Given the description of an element on the screen output the (x, y) to click on. 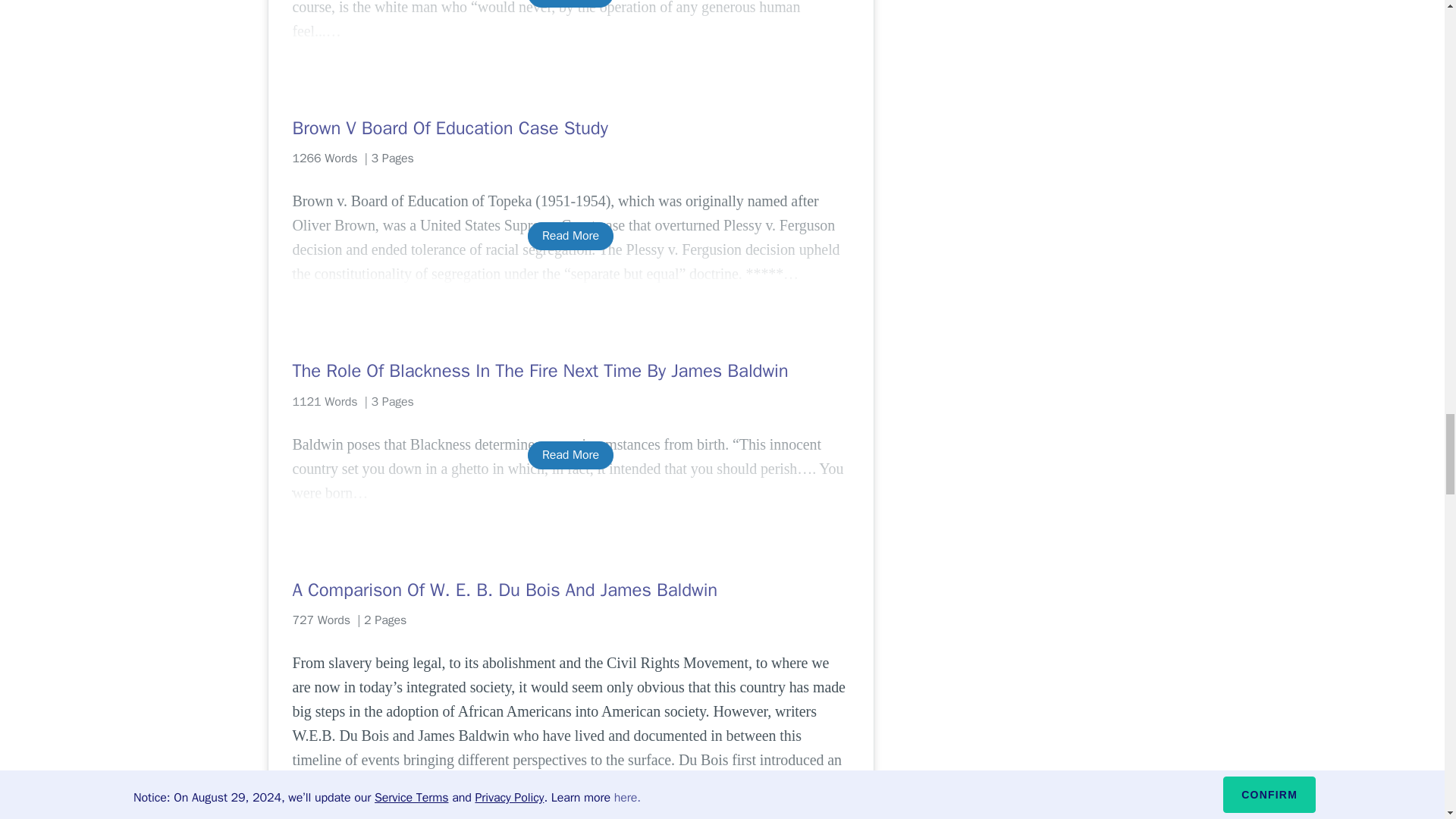
Read More (569, 455)
Read More (569, 795)
A Comparison Of W. E. B. Du Bois And James Baldwin (570, 589)
Read More (569, 3)
Read More (569, 235)
The Role Of Blackness In The Fire Next Time By James Baldwin (570, 370)
Brown V Board Of Education Case Study (570, 128)
